Given the description of an element on the screen output the (x, y) to click on. 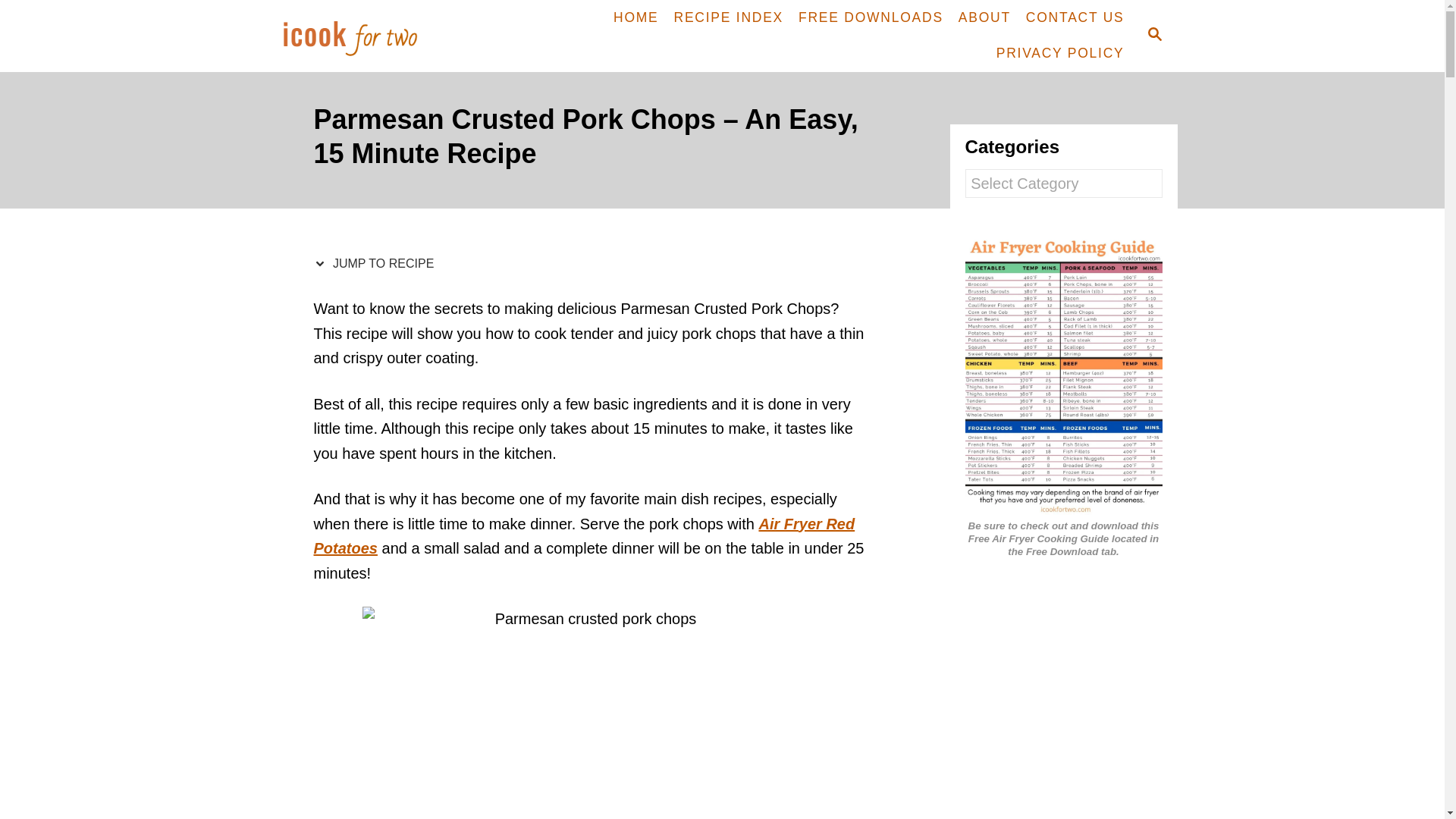
RECIPE INDEX (729, 18)
Air Fryer Red Potatoes (585, 536)
HOME (635, 18)
JUMP TO RECIPE (378, 263)
PRIVACY POLICY (1060, 53)
SEARCH (1153, 35)
icook for two (376, 36)
CONTACT US (1074, 18)
ABOUT (983, 18)
FREE DOWNLOADS (870, 18)
